Given the description of an element on the screen output the (x, y) to click on. 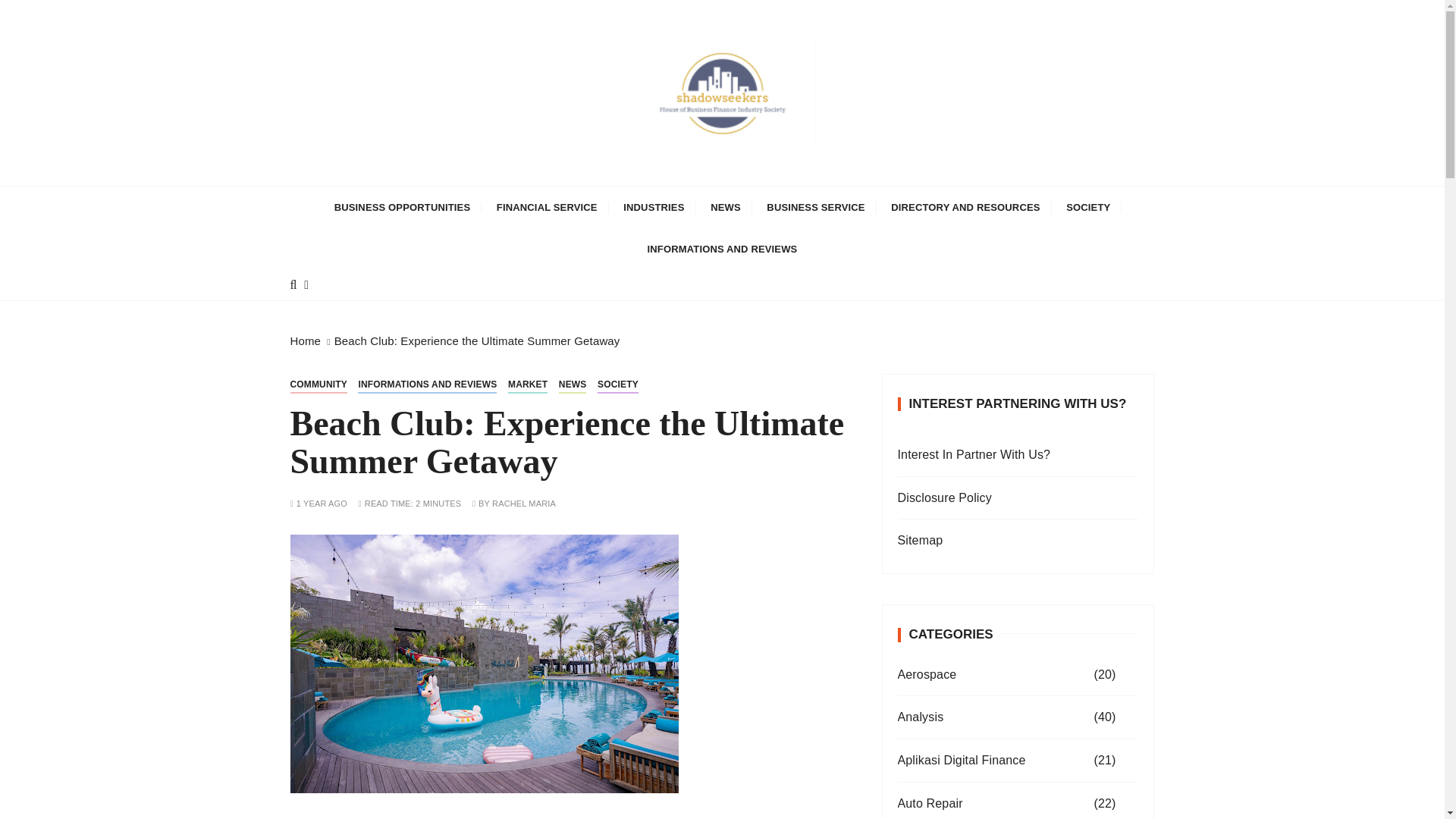
FINANCIAL SERVICE (546, 207)
BUSINESS SERVICE (815, 207)
INDUSTRIES (653, 207)
shadow seekers (419, 195)
NEWS (725, 207)
BUSINESS OPPORTUNITIES (402, 207)
Beach Club: Experience the Ultimate Summer Getaway (483, 663)
